Given the description of an element on the screen output the (x, y) to click on. 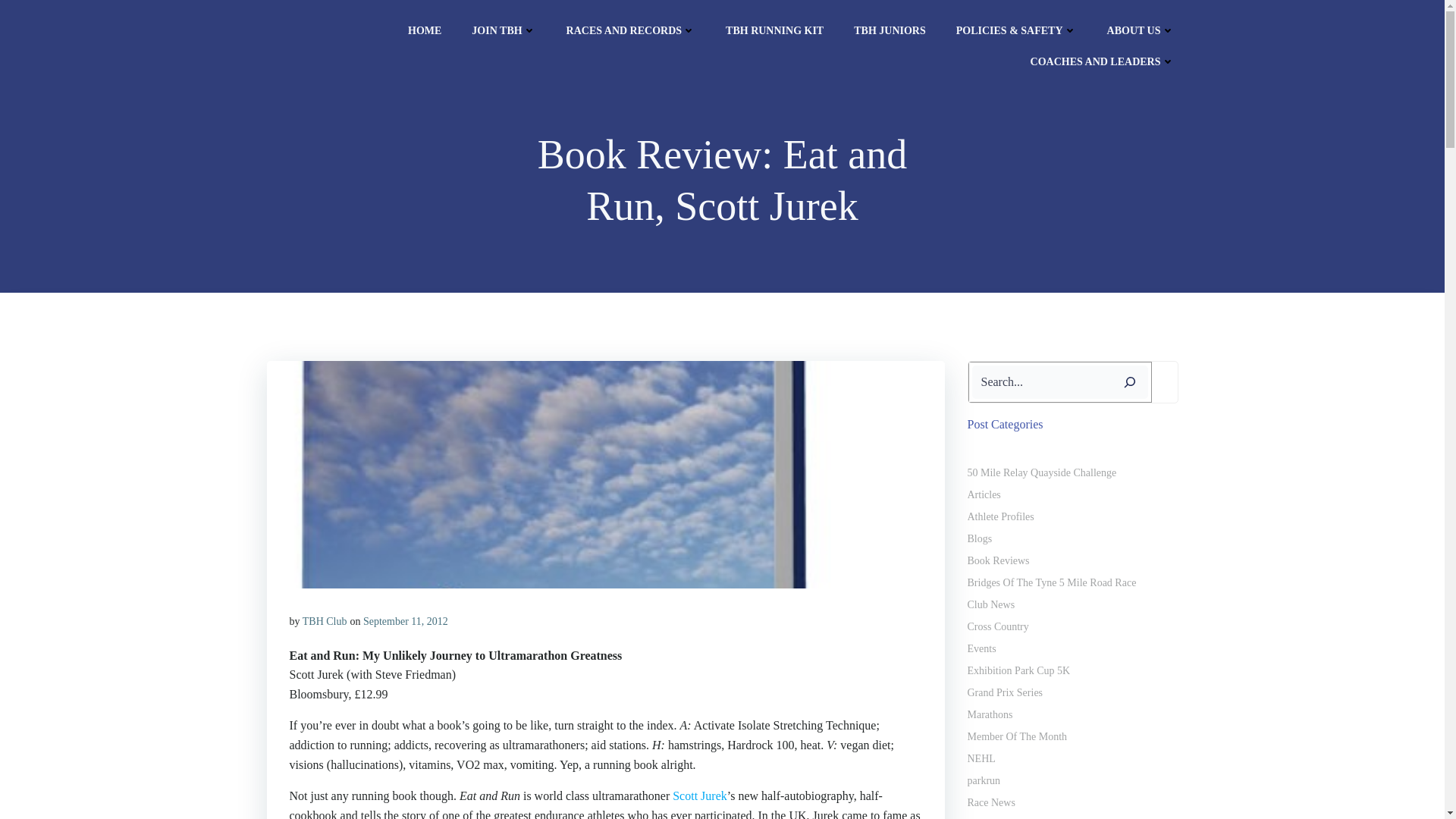
HOME (424, 30)
JOIN TBH (503, 30)
ABOUT US (1140, 30)
TBH RUNNING KIT (774, 30)
RACES AND RECORDS (630, 30)
COACHES AND LEADERS (1102, 61)
Scott Jurek website (699, 795)
Scott Jurek (699, 795)
TBH JUNIORS (889, 30)
TBH Club (324, 621)
